Given the description of an element on the screen output the (x, y) to click on. 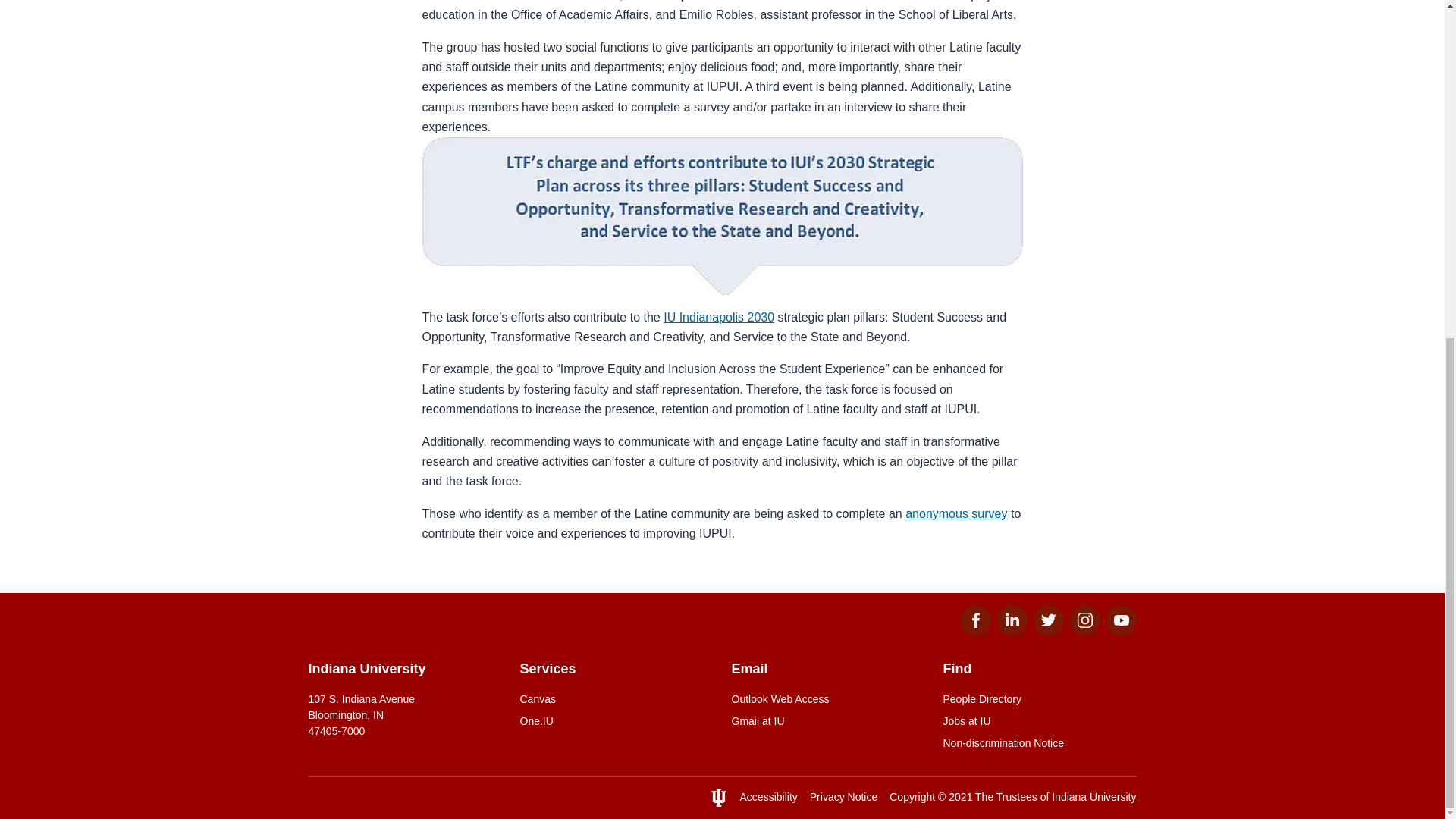
Canvas (616, 699)
One.IU (616, 721)
Copyright (911, 797)
Privacy Notice (843, 797)
IU Indianapolis 2030 (718, 317)
Instagram for IU (1083, 631)
Jobs at IU (1040, 721)
anonymous survey (956, 513)
Linkedin for IU (1010, 631)
Accessibility (768, 797)
Outlook Web Access (827, 699)
Non-discrimination Notice (1040, 743)
Facebook for IU (974, 631)
Twitter for IU (1047, 631)
Youtube for IU (1120, 631)
